Given the description of an element on the screen output the (x, y) to click on. 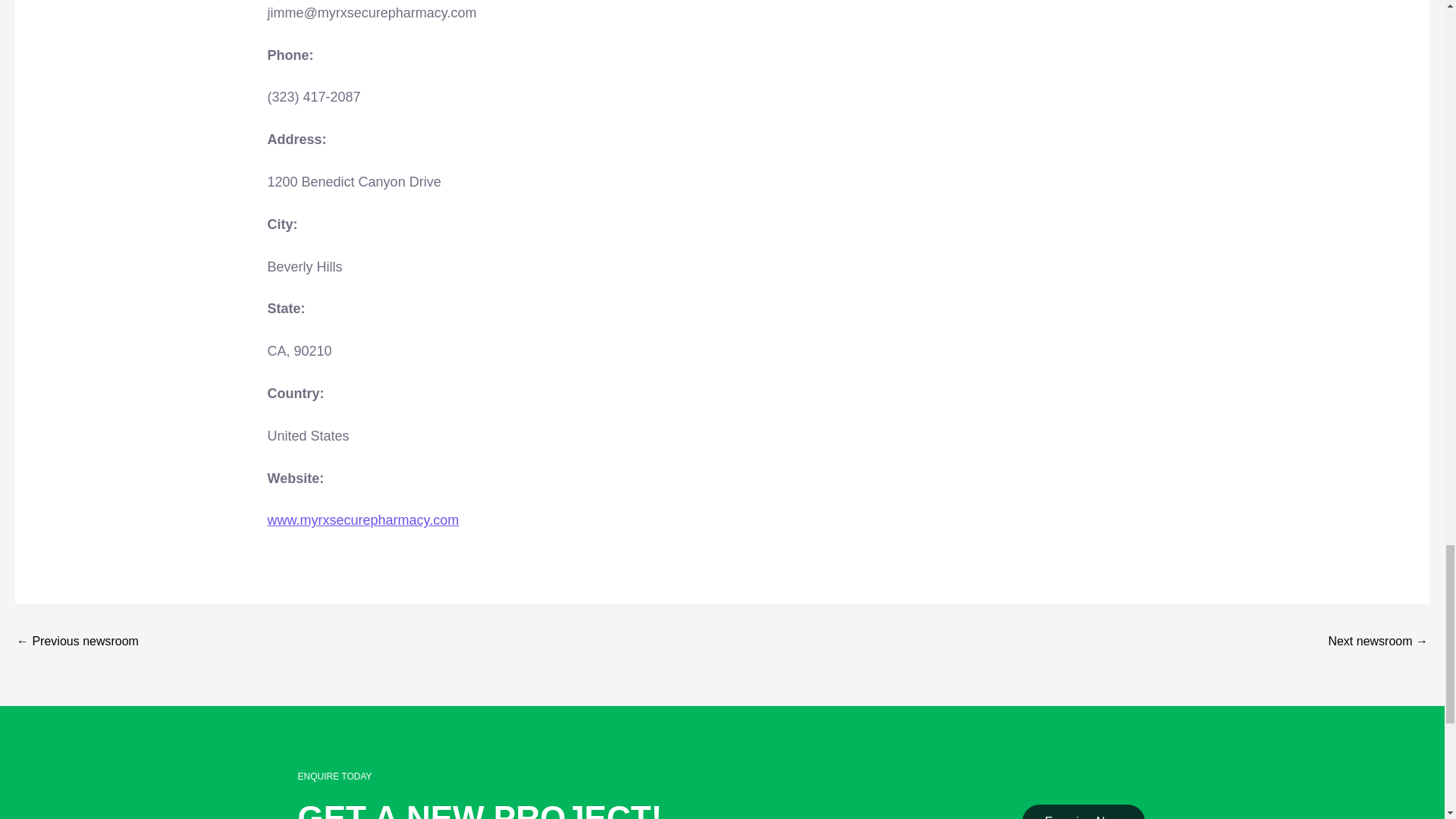
Enquire Now (1083, 811)
www.myrxsecurepharmacy.com (362, 519)
